Given the description of an element on the screen output the (x, y) to click on. 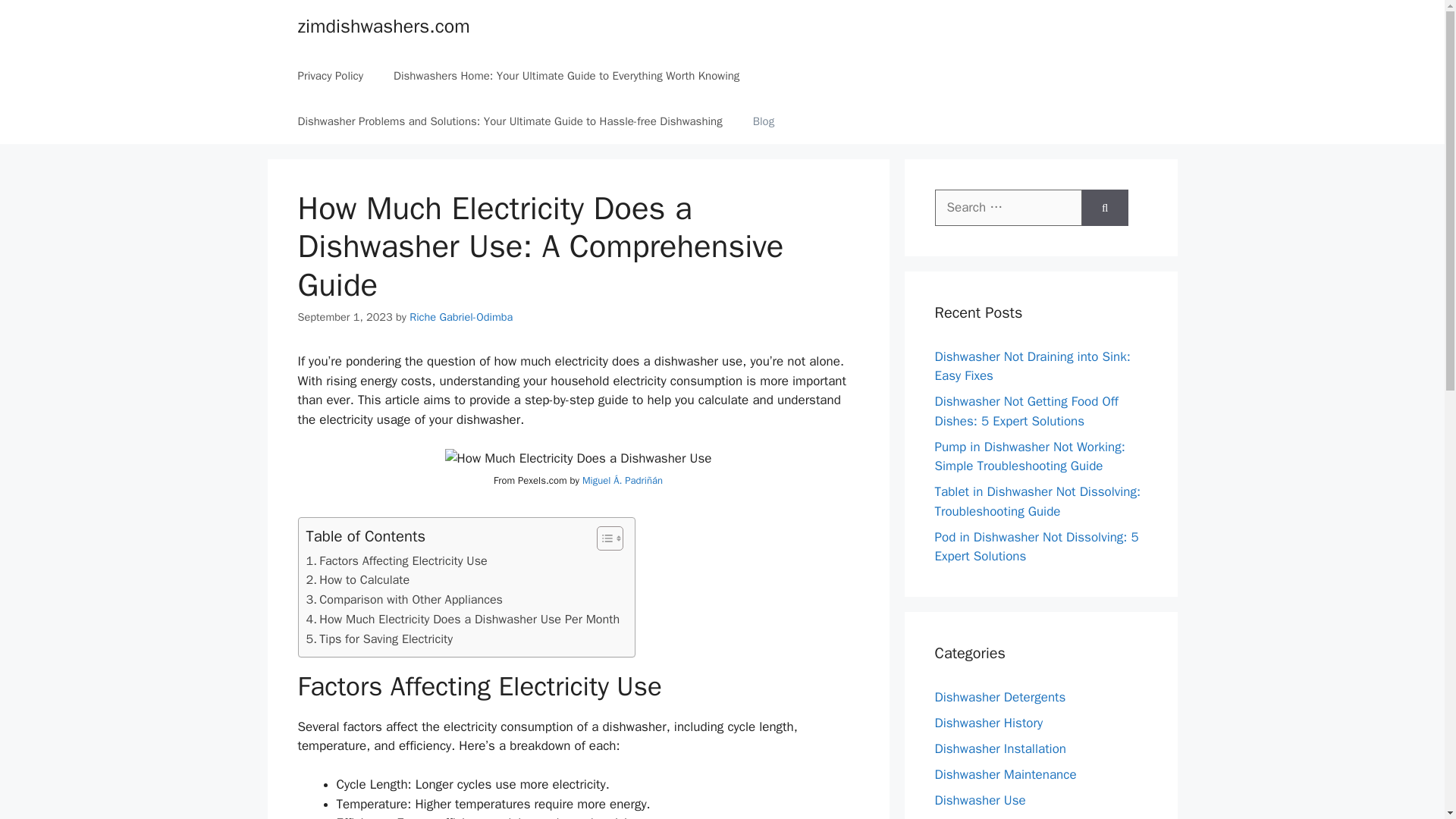
Pod in Dishwasher Not Dissolving: 5 Expert Solutions (1036, 547)
Search for: (1007, 207)
Pump in Dishwasher Not Working: Simple Troubleshooting Guide (1029, 456)
Problems and Solutions (1001, 818)
How Much Electricity Does a Dishwasher Use Per Month (462, 619)
How to Calculate (357, 579)
Blog (763, 121)
Comparison with Other Appliances (403, 599)
Factors Affecting Electricity Use (396, 560)
Dishwasher History (988, 722)
Comparison with Other Appliances (403, 599)
Privacy Policy (330, 75)
How Much Electricity Does a Dishwasher Use Per Month (462, 619)
Dishwasher Use (979, 799)
Dishwasher Installation (999, 747)
